Given the description of an element on the screen output the (x, y) to click on. 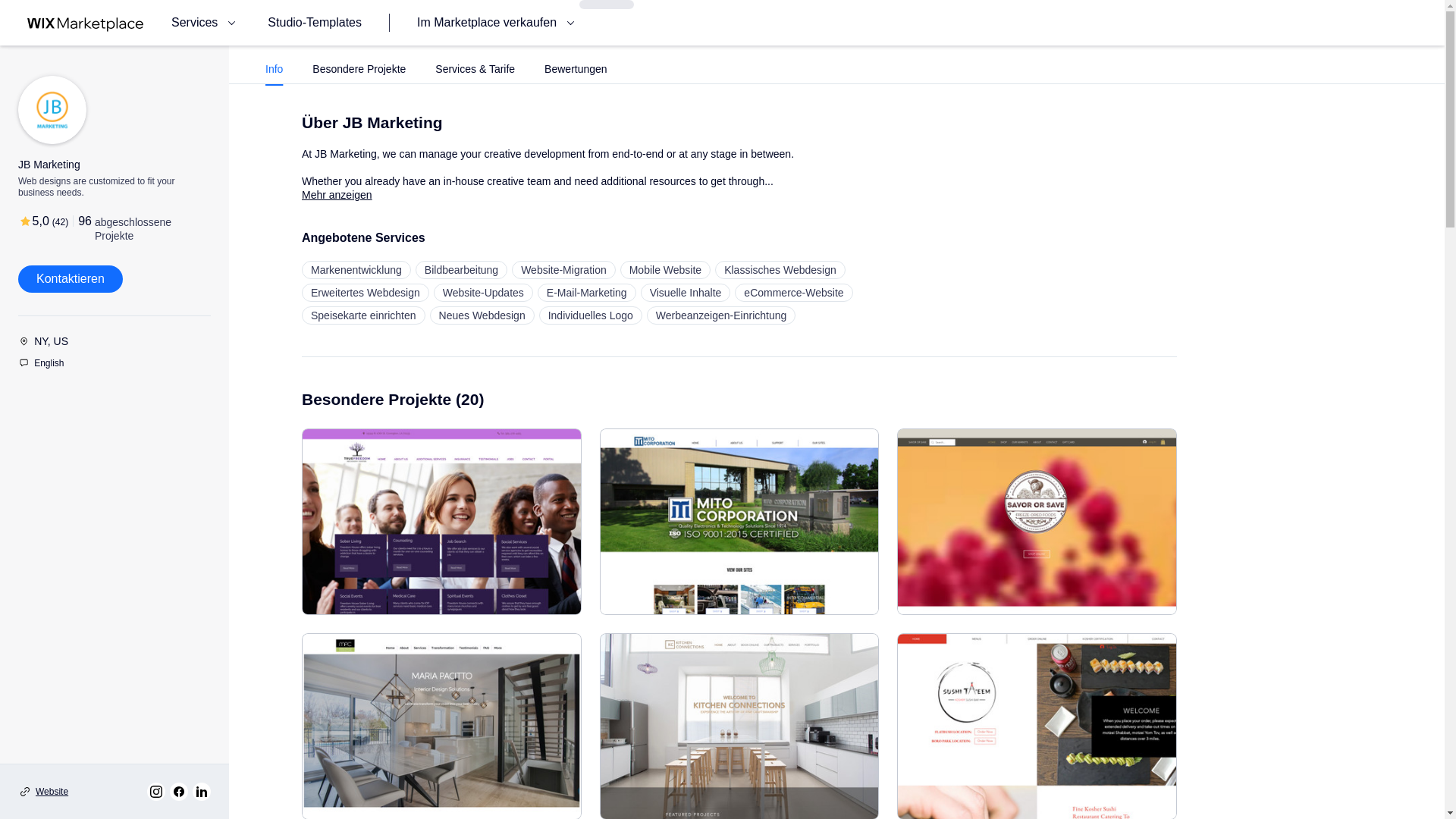
Services (205, 22)
Studio-Templates (314, 22)
Im Marketplace verkaufen (497, 22)
